Given the description of an element on the screen output the (x, y) to click on. 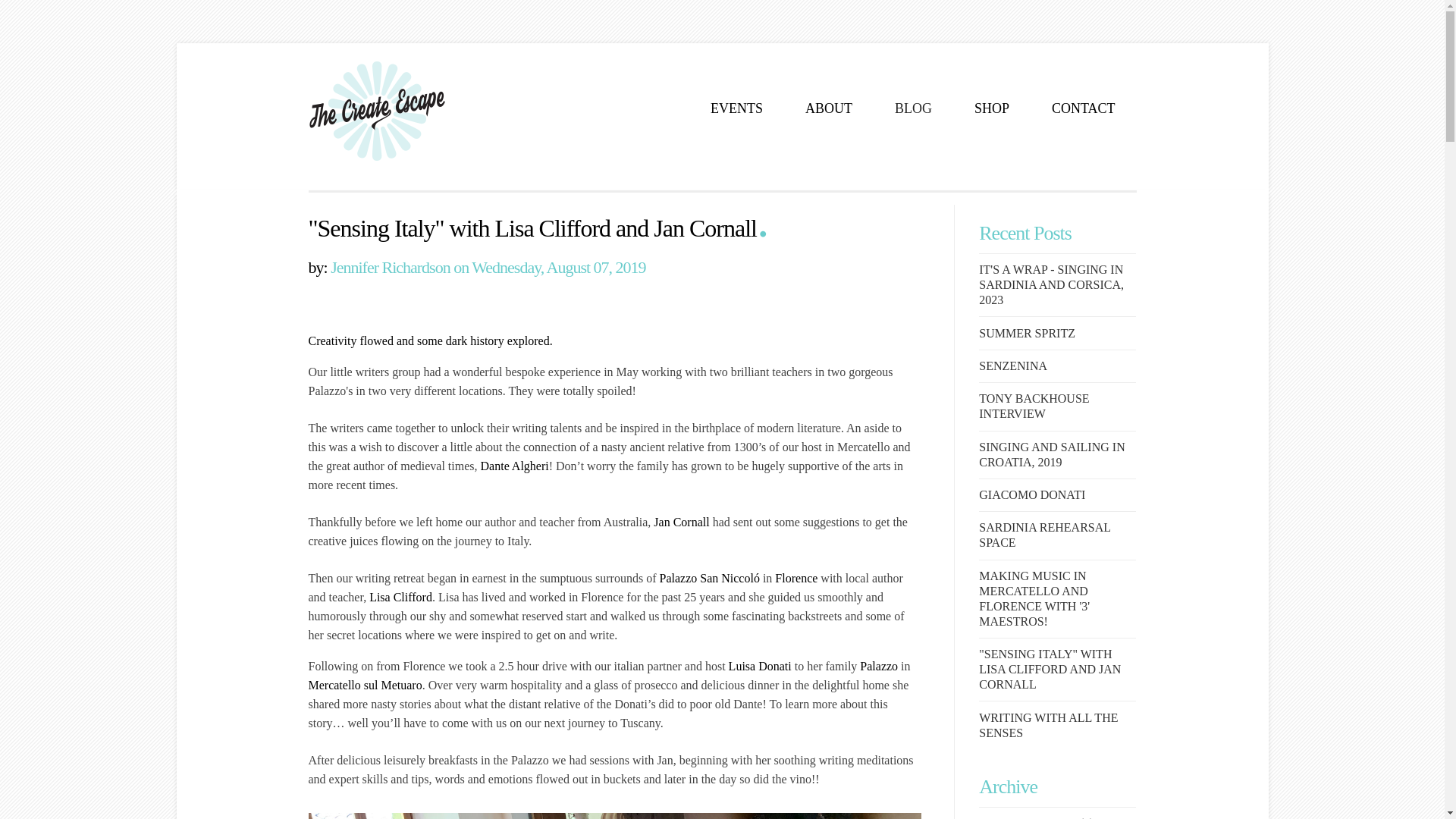
BLOG (912, 109)
Giacomo Donati (1031, 494)
"Sensing Italy" with Lisa Clifford and Jan Cornall (1049, 669)
Summer Spritz (1026, 332)
Singing and Sailing in Croatia, 2019 (1051, 454)
ABOUT (828, 109)
"Sensing Italy" with Lisa Clifford and Jan Cornall (531, 227)
SHOP (991, 109)
Sardinia rehearsal space (1043, 534)
CONTACT (1083, 109)
